Given the description of an element on the screen output the (x, y) to click on. 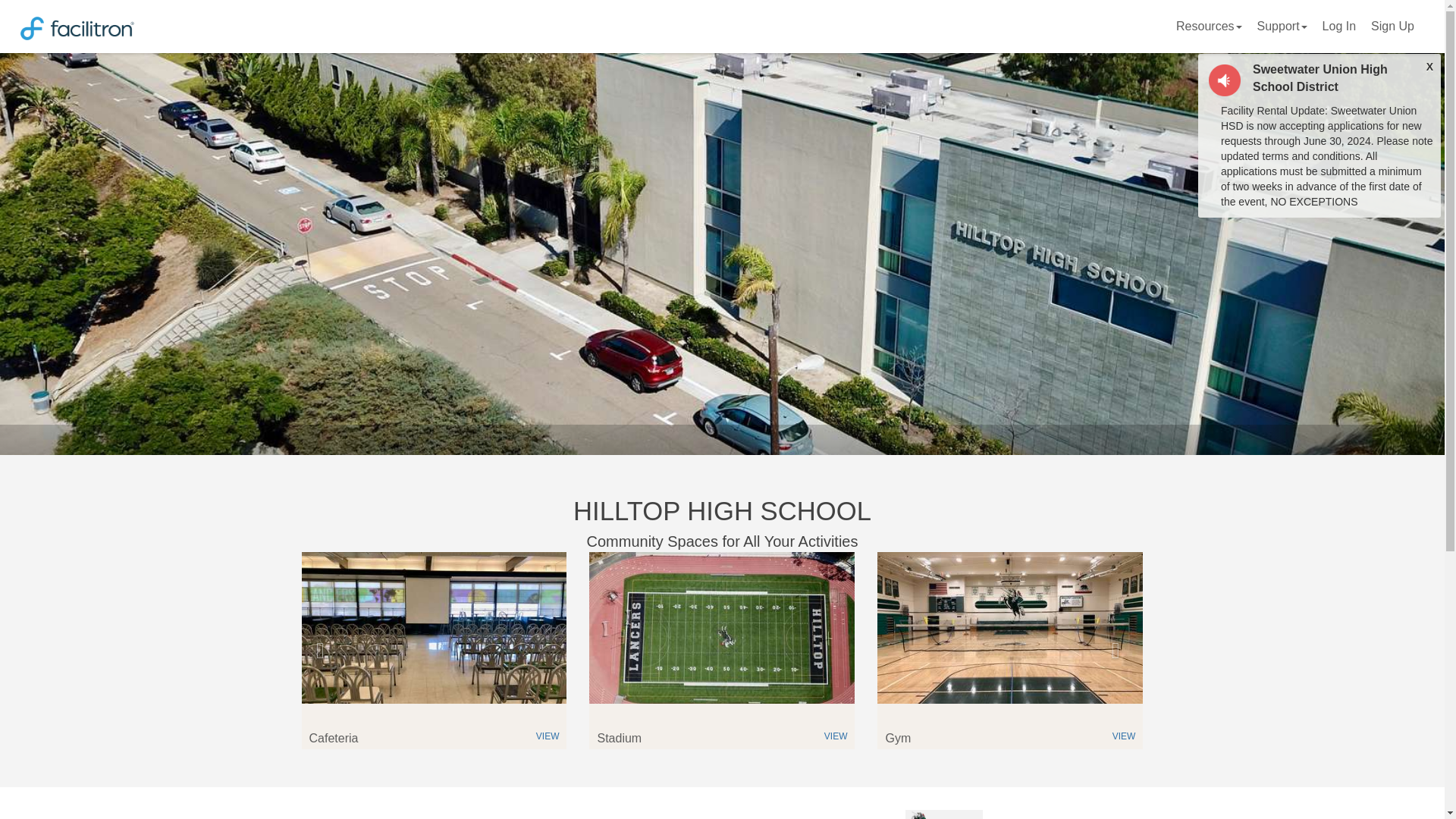
VIEW (835, 736)
VIEW (1123, 736)
Resources (1208, 25)
facilitron (180, 28)
Support (1282, 25)
Log In (1338, 25)
Sign Up (1392, 25)
VIEW (547, 736)
